Given the description of an element on the screen output the (x, y) to click on. 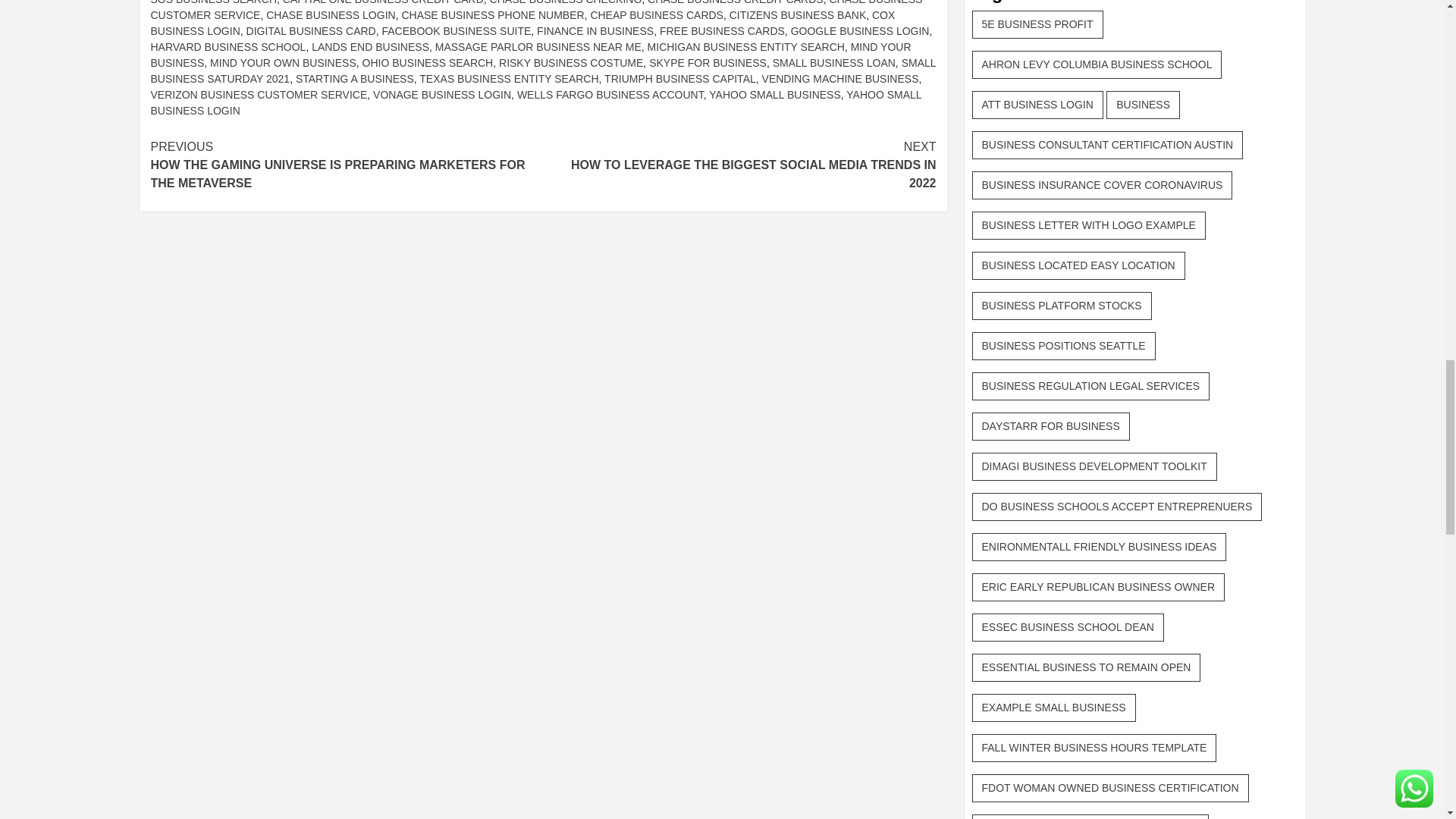
CHASE BUSINESS CREDIT CARDS (735, 2)
CHASE BUSINESS CHECKING (565, 2)
CAPITAL ONE BUSINESS CREDIT CARD (382, 2)
